Given the description of an element on the screen output the (x, y) to click on. 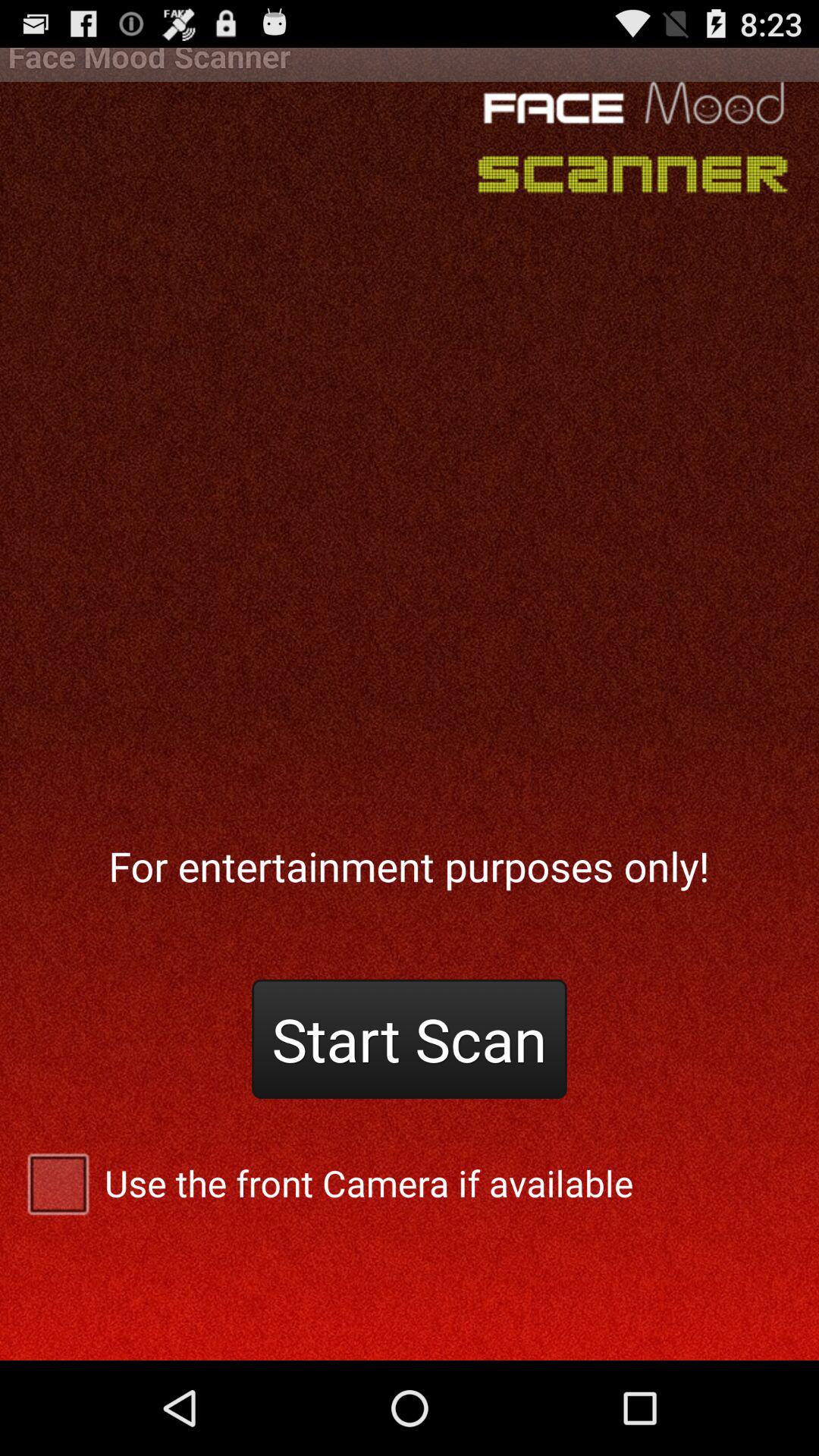
click start scan button (409, 1038)
